Given the description of an element on the screen output the (x, y) to click on. 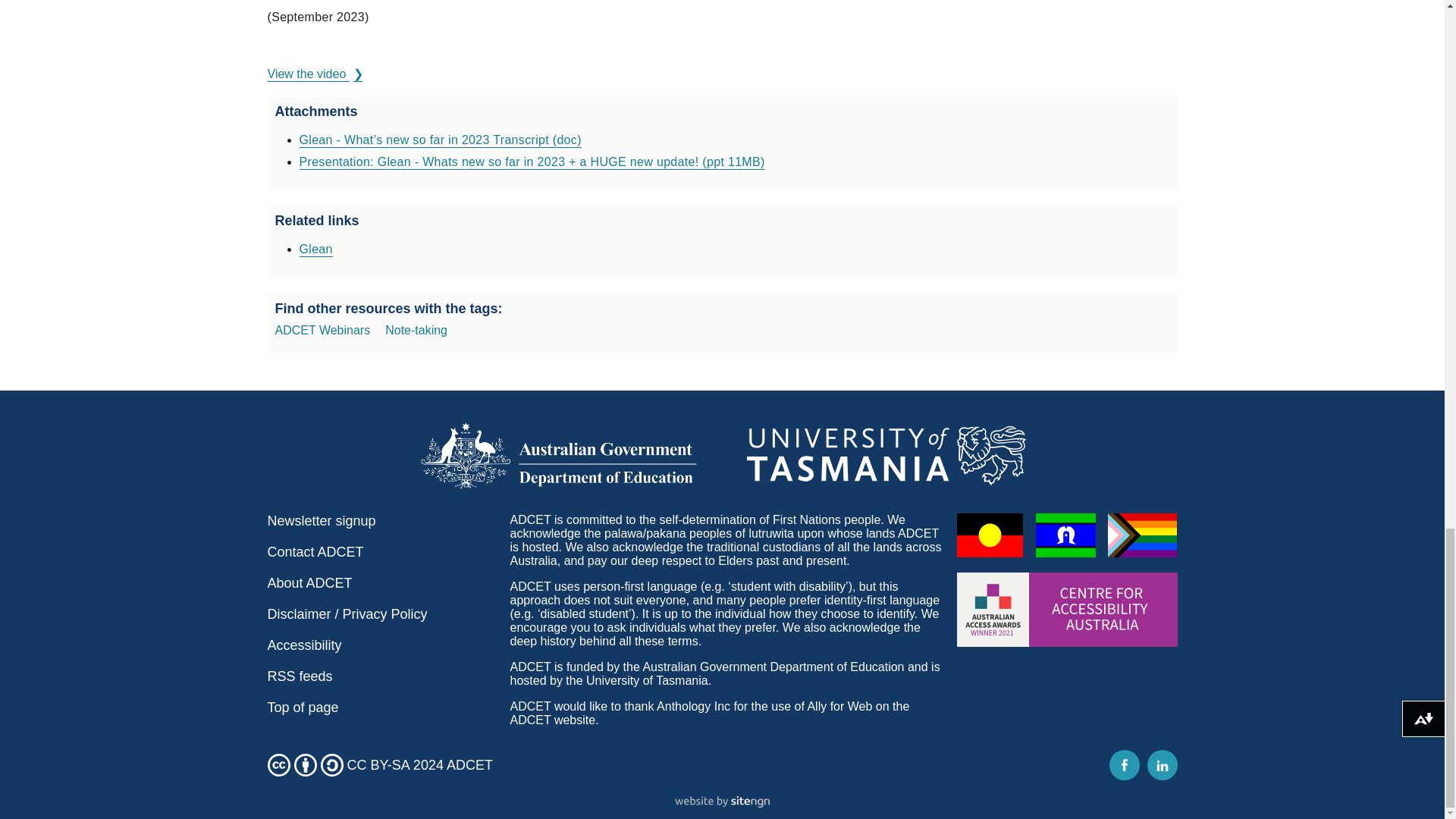
View ADCET's LinkedIn profile (1161, 765)
Australian Aboriginal flag (989, 535)
View ADCET's Facebook profile (1123, 765)
Torres Strait Islander flag (1065, 535)
